Given the description of an element on the screen output the (x, y) to click on. 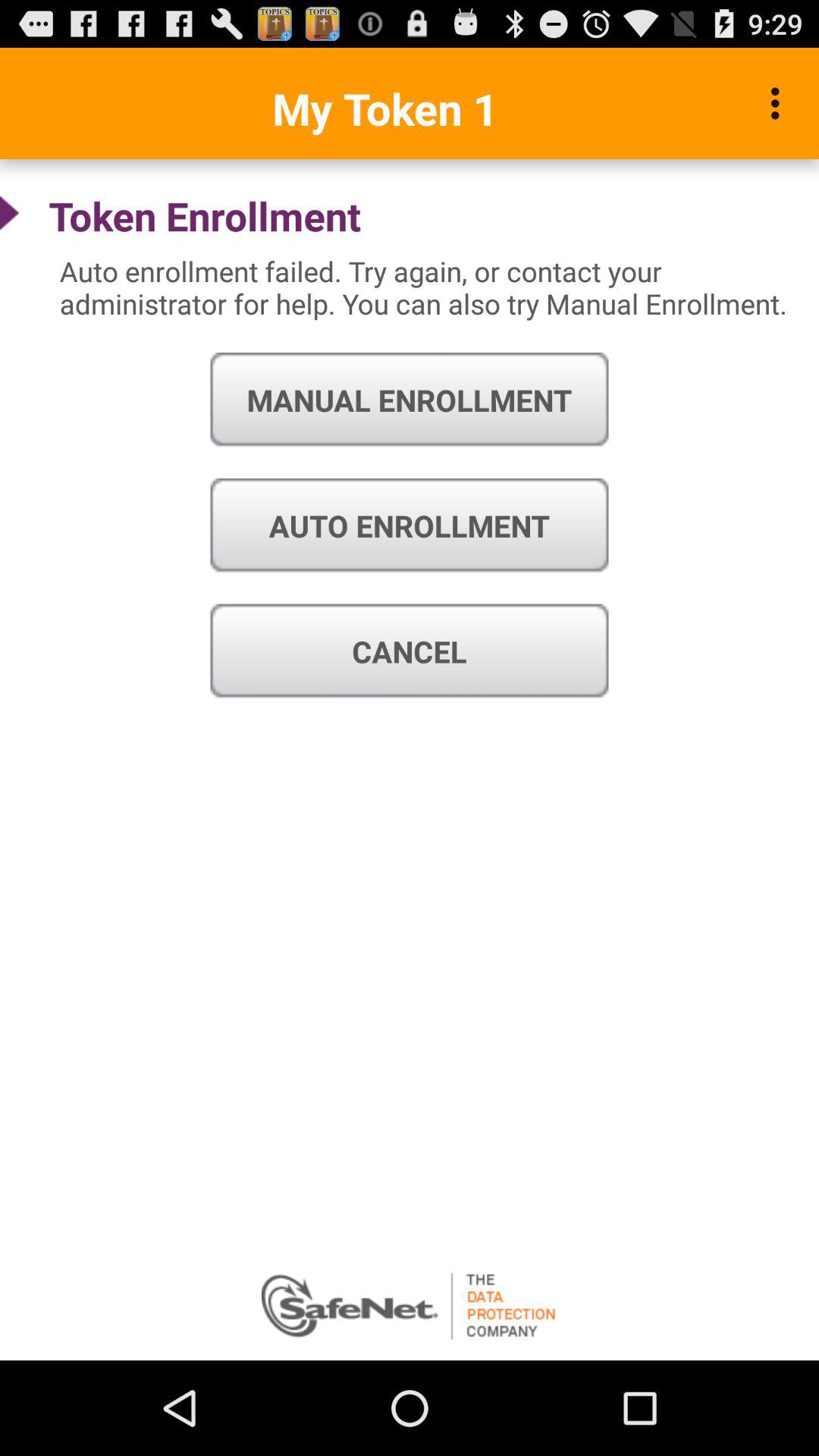
select the item at the top right corner (779, 103)
